Given the description of an element on the screen output the (x, y) to click on. 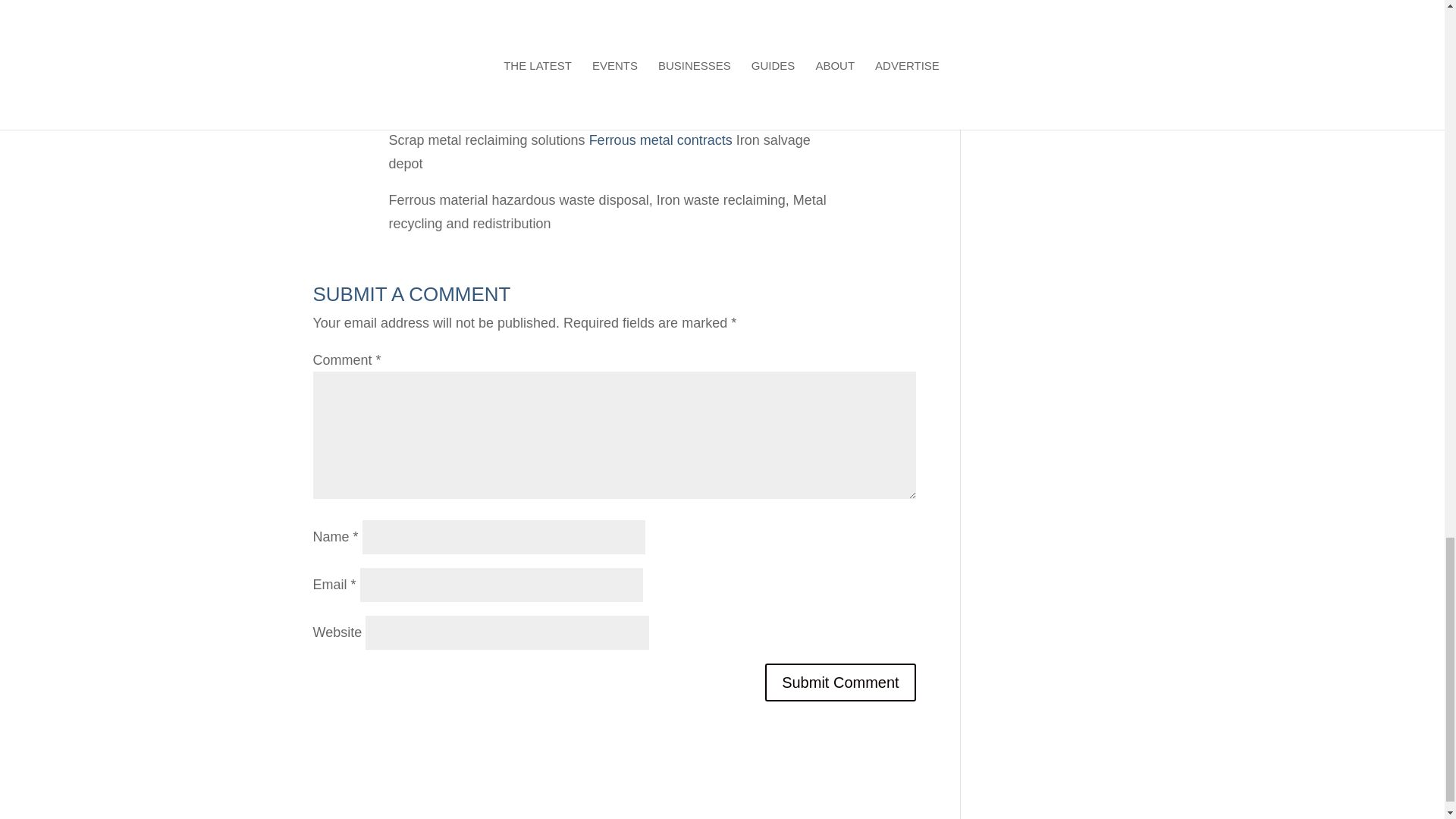
Submit Comment (840, 682)
Iron scrap yard (432, 110)
Ferrous metal contracts (660, 140)
Ferrous metal contracts (660, 140)
Submit Comment (840, 682)
